Given the description of an element on the screen output the (x, y) to click on. 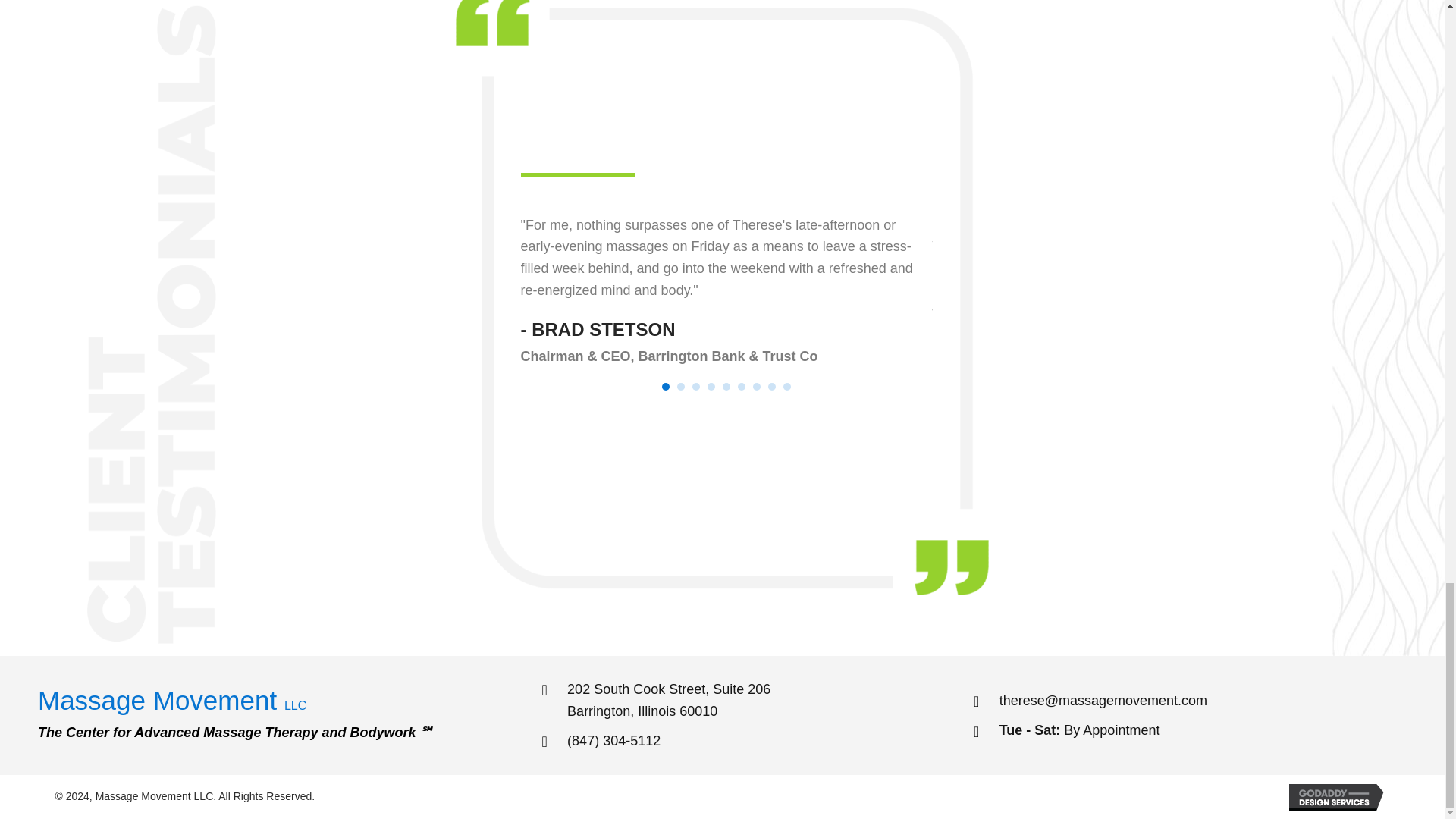
7 (756, 386)
5 (726, 386)
6 (741, 386)
3 (696, 386)
9 (786, 386)
8 (772, 386)
2 (668, 700)
1 (680, 386)
4 (665, 386)
